Given the description of an element on the screen output the (x, y) to click on. 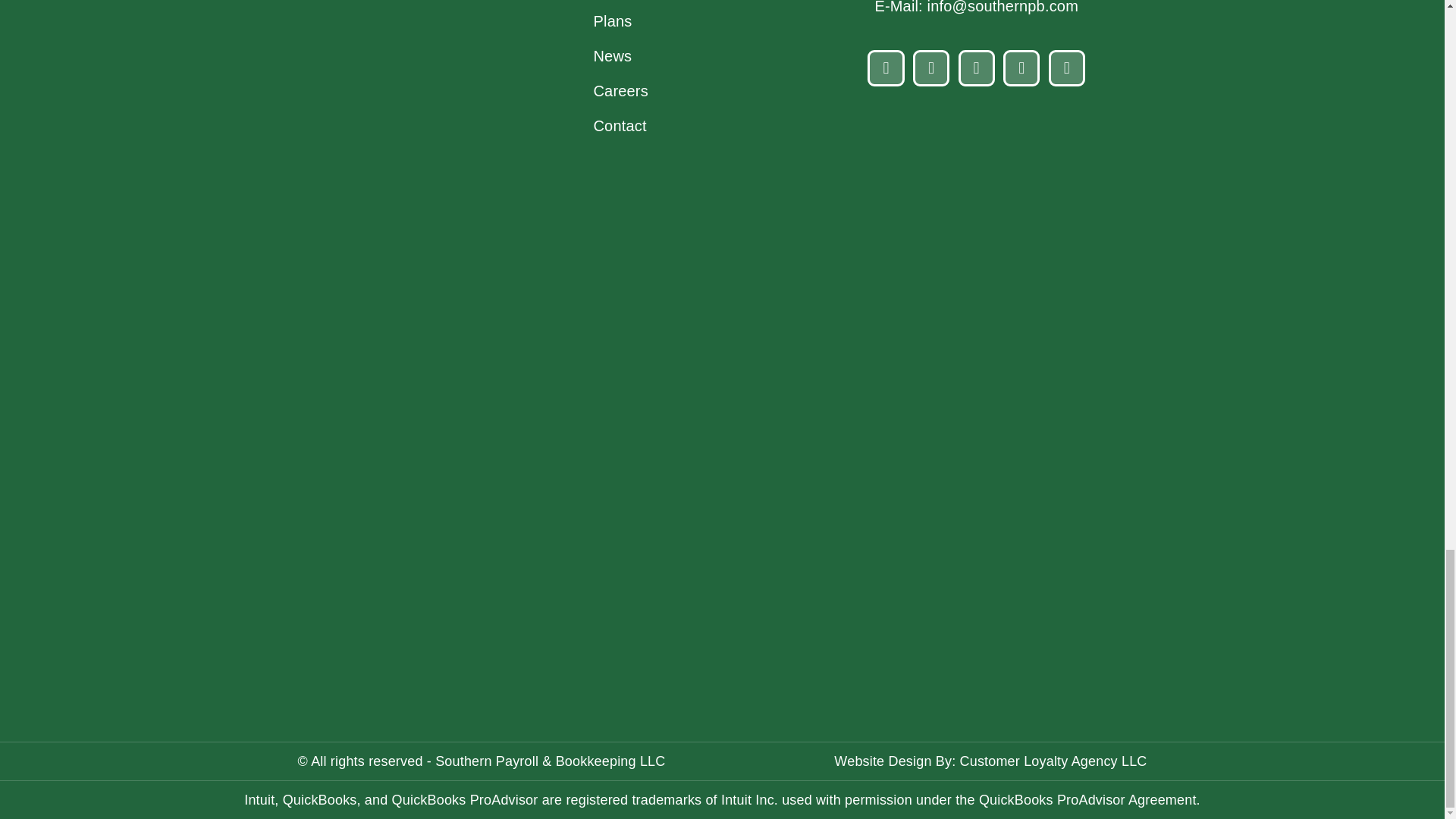
Plans (636, 20)
Services (636, 1)
News (636, 54)
Contact (636, 124)
Careers (636, 89)
